Given the description of an element on the screen output the (x, y) to click on. 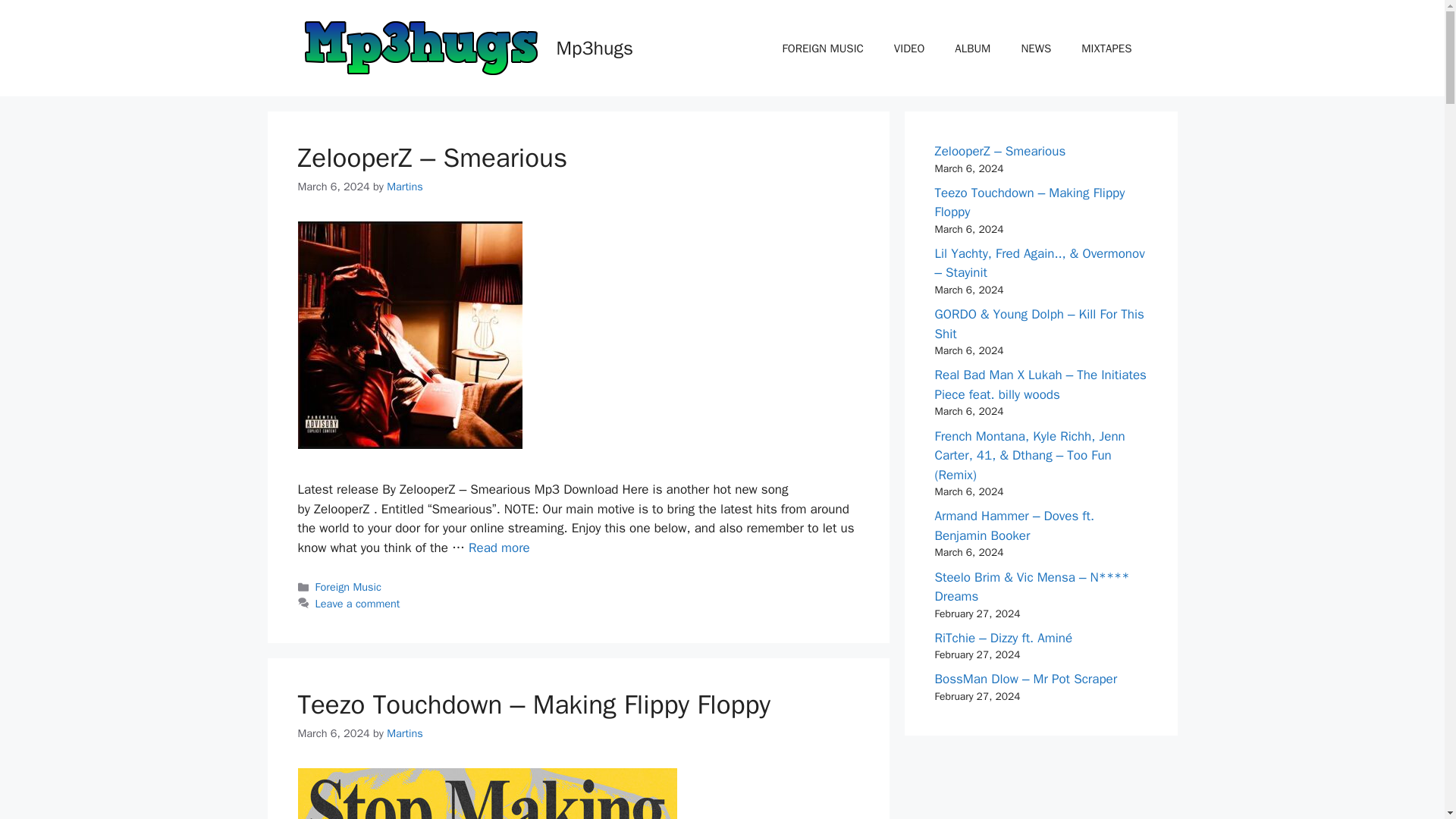
ALBUM (972, 48)
Martins (405, 733)
Mp3hugs (594, 47)
Martins (405, 186)
Foreign Music (348, 586)
NEWS (1035, 48)
VIDEO (909, 48)
FOREIGN MUSIC (823, 48)
View all posts by Martins (405, 733)
View all posts by Martins (405, 186)
Leave a comment (357, 603)
Read more (498, 547)
MIXTAPES (1106, 48)
